Given the description of an element on the screen output the (x, y) to click on. 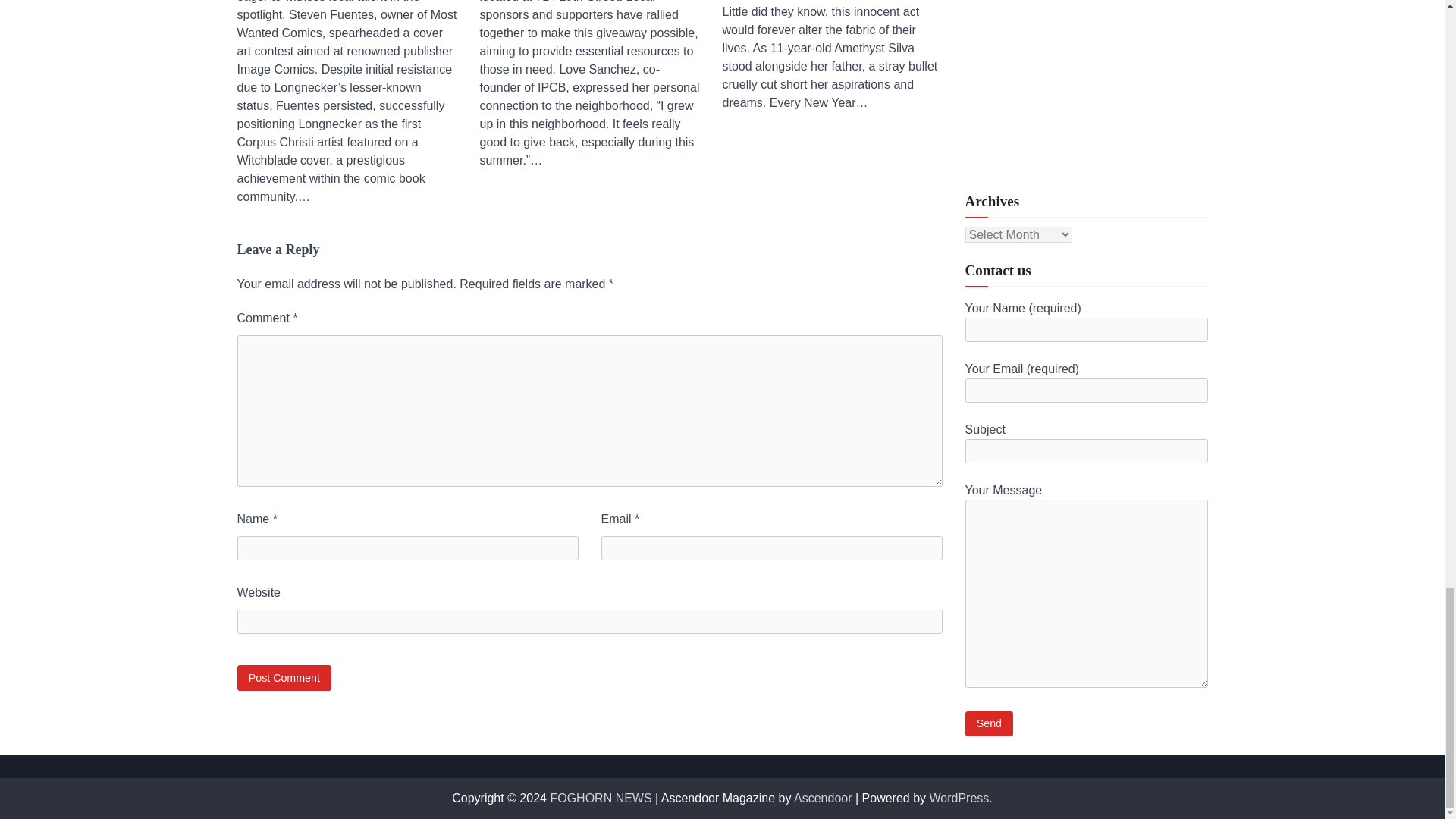
FOGHORN NEWS (600, 797)
Ascendoor (822, 797)
Post Comment (283, 677)
Post Comment (283, 677)
WordPress (960, 797)
